Given the description of an element on the screen output the (x, y) to click on. 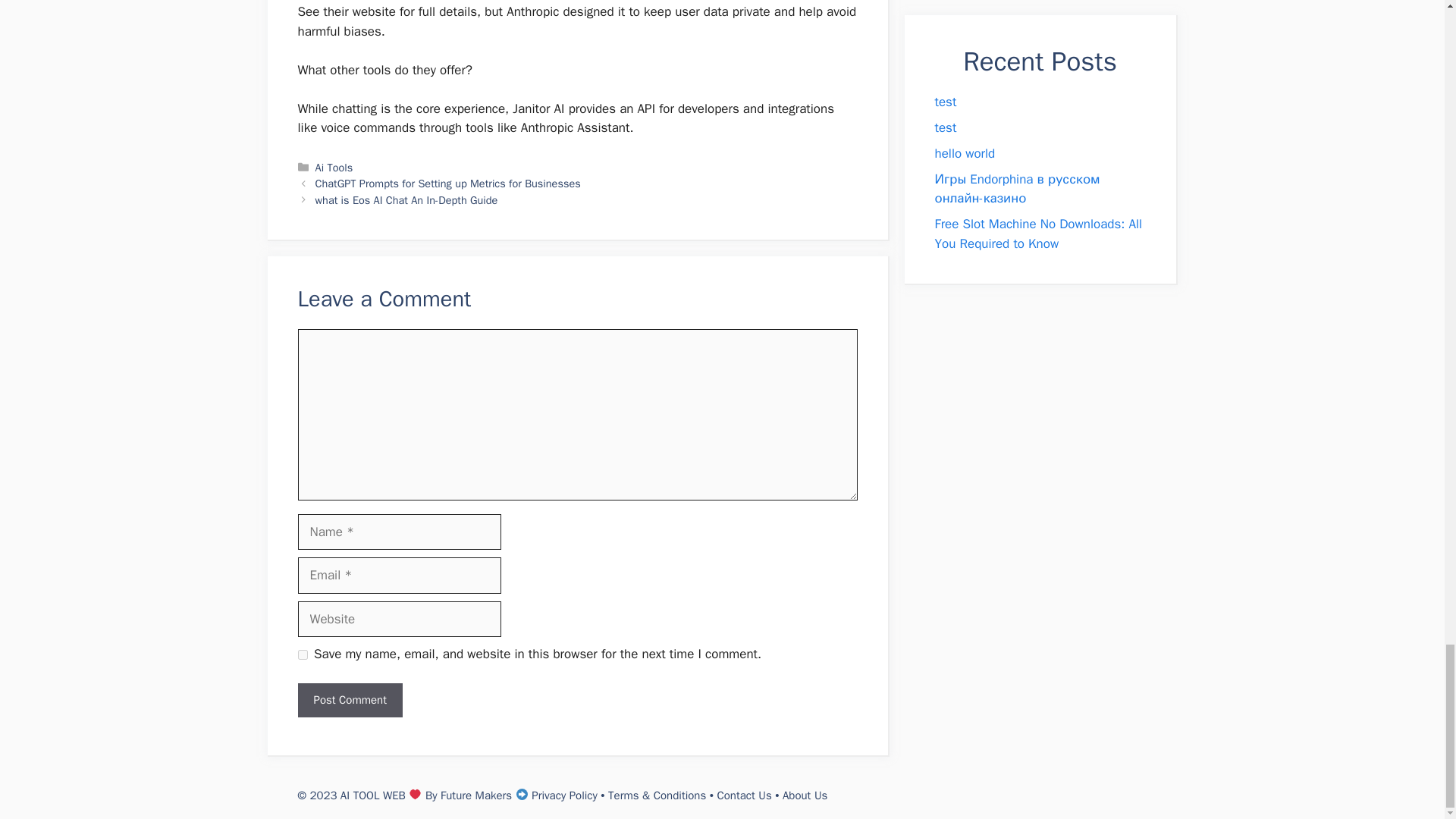
Post Comment (349, 700)
Post Comment (349, 700)
Privacy Policy (563, 795)
ChatGPT Prompts for Setting up Metrics for Businesses (447, 183)
what is Eos AI Chat An In-Depth Guide (406, 200)
Ai Tools (334, 167)
yes (302, 655)
